Given the description of an element on the screen output the (x, y) to click on. 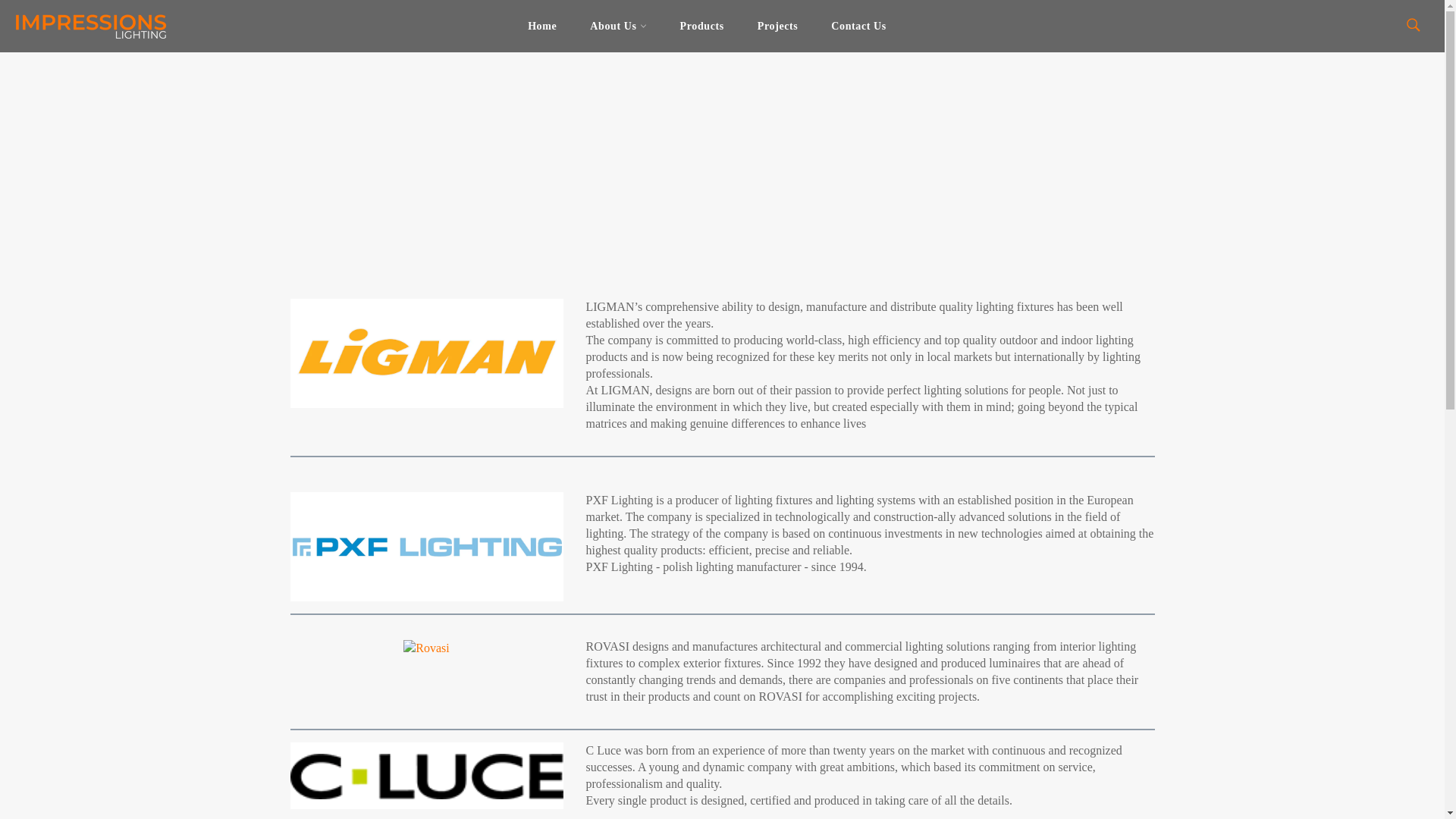
Projects (777, 26)
Contact Us (858, 26)
Home (542, 26)
About Us (618, 26)
Search (1411, 24)
Products (702, 26)
